Given the description of an element on the screen output the (x, y) to click on. 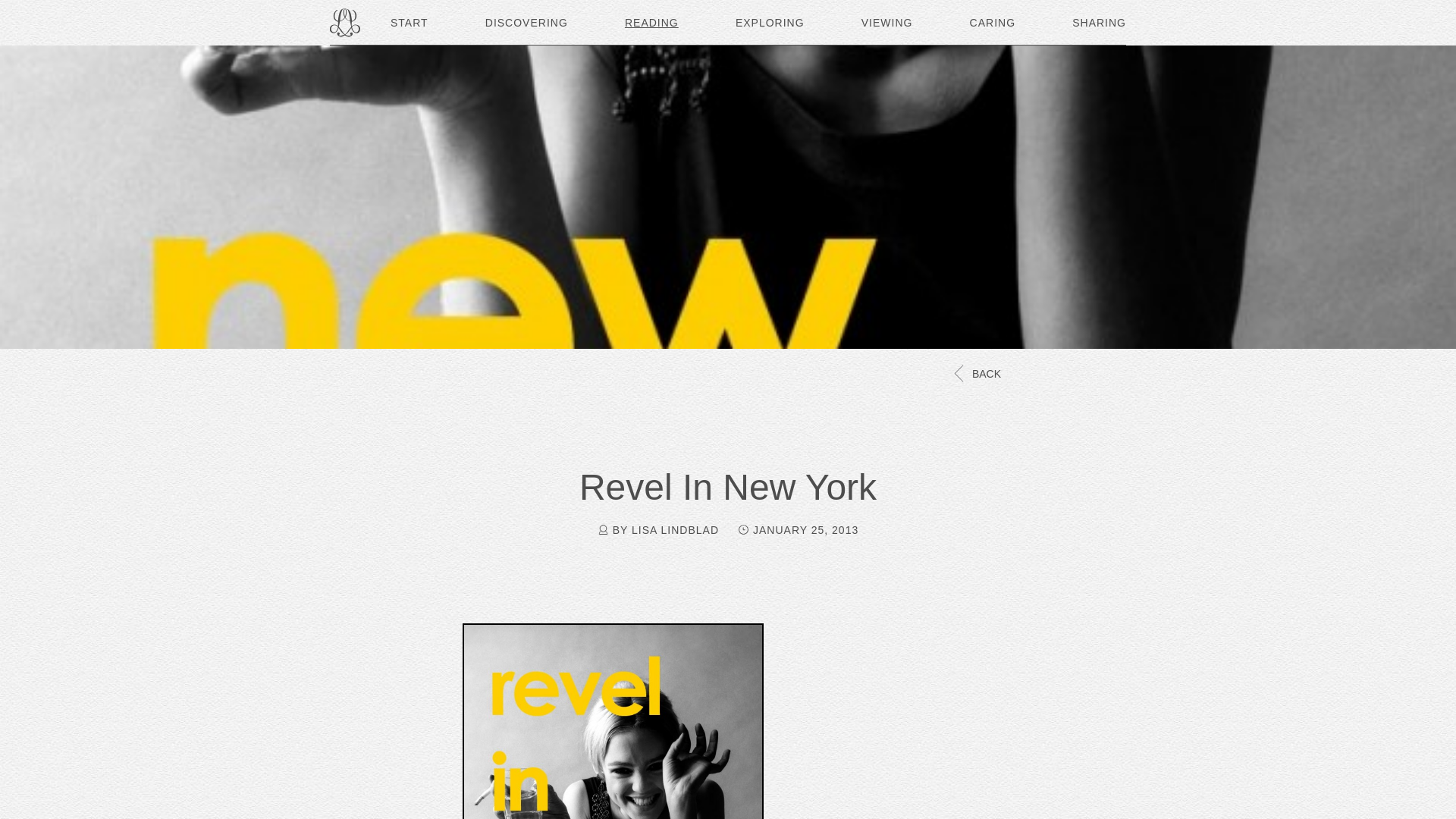
BACK (975, 373)
EXPLORING (770, 22)
SHARING (1098, 22)
READING (651, 22)
VIEWING (886, 22)
CARING (991, 22)
